Given the description of an element on the screen output the (x, y) to click on. 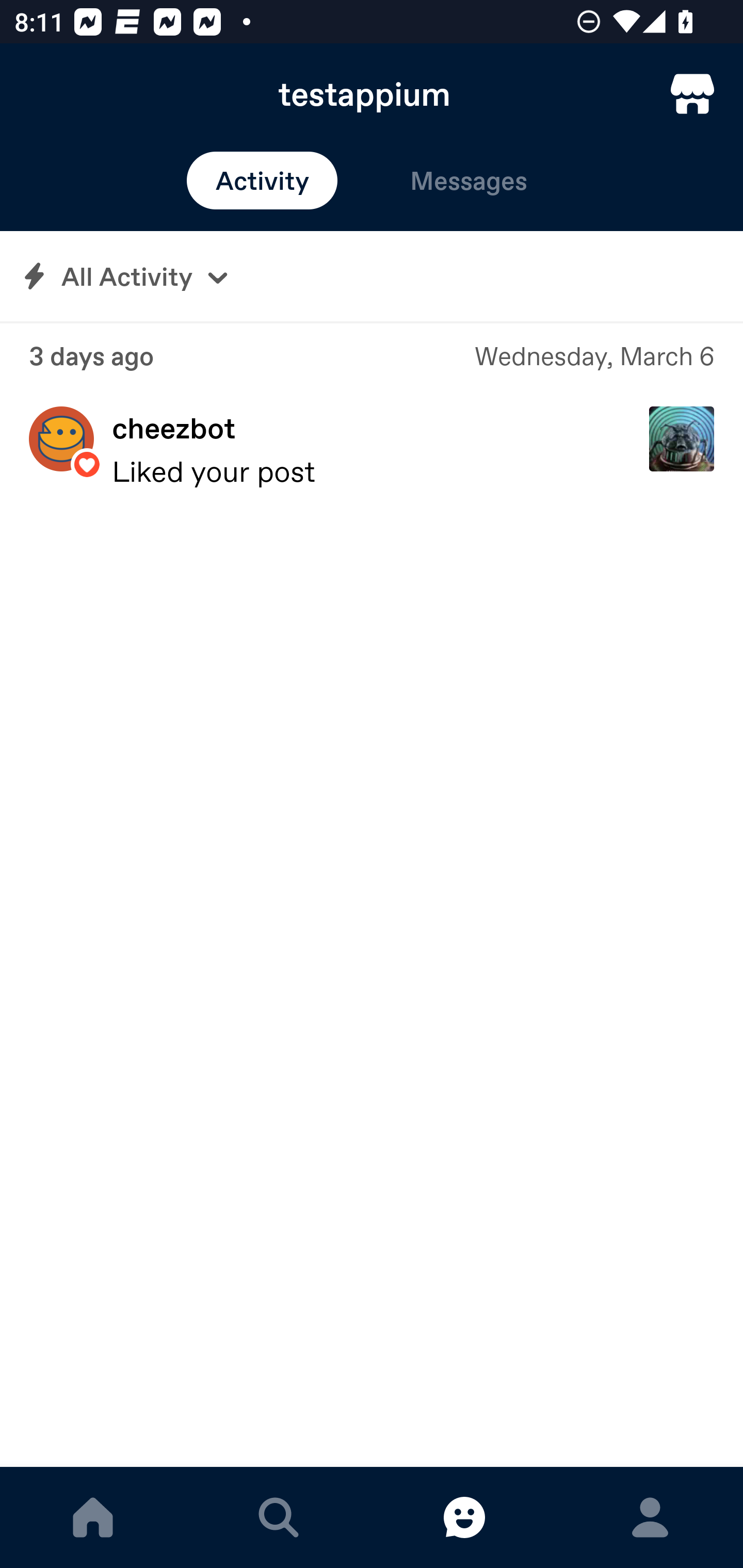
testappium (371, 93)
TumblrMart (692, 94)
Messages Messages Messages (468, 181)
All Activity (371, 276)
3 days ago Wednesday, March 6 (371, 355)
cheezbot Liked your post (371, 449)
DASHBOARD (92, 1517)
EXPLORE (278, 1517)
MESSAGES (464, 1517)
ACCOUNT (650, 1517)
